Given the description of an element on the screen output the (x, y) to click on. 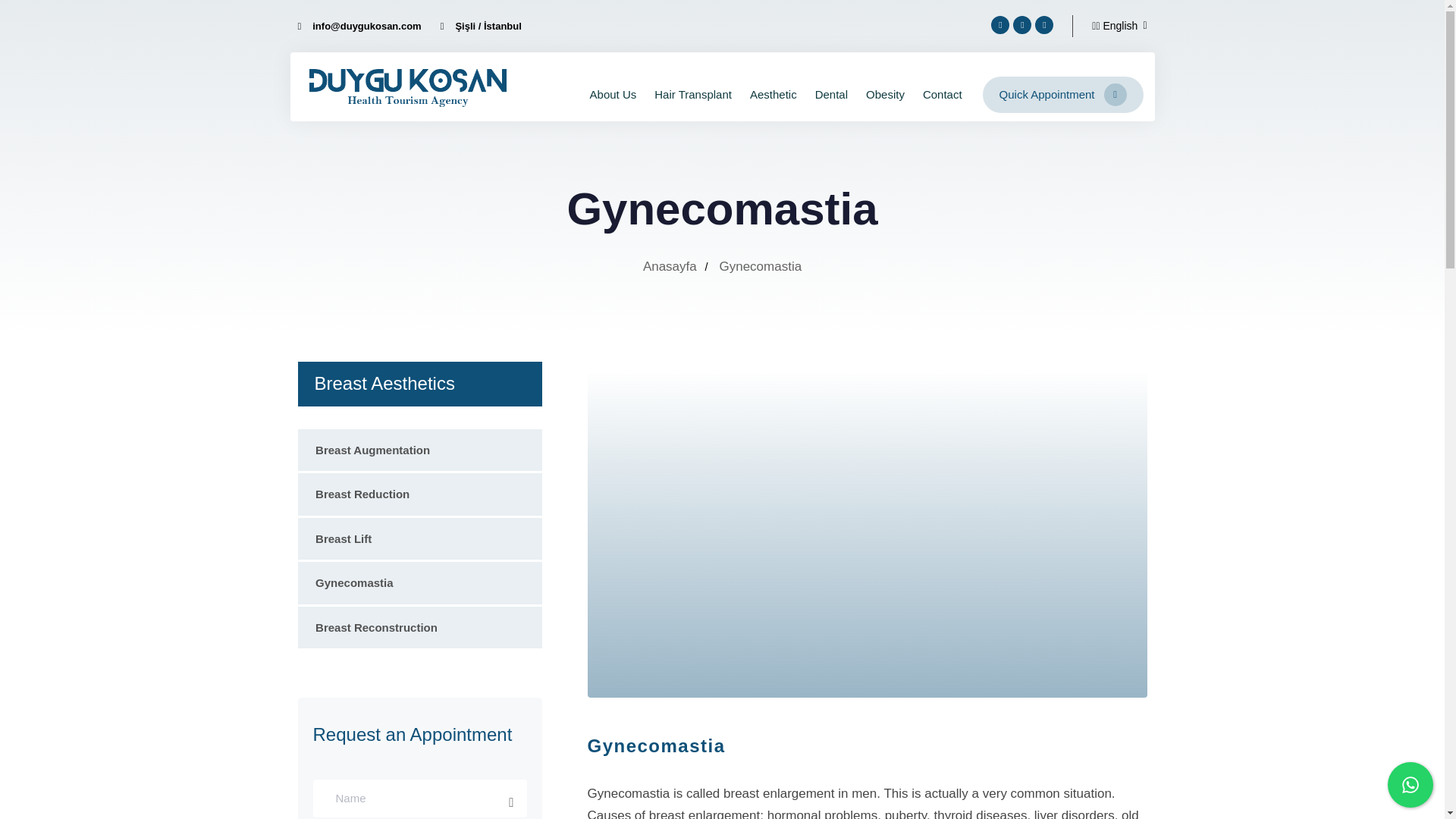
Aesthetic (773, 94)
Hair Transplant (693, 94)
About Us (613, 94)
